Given the description of an element on the screen output the (x, y) to click on. 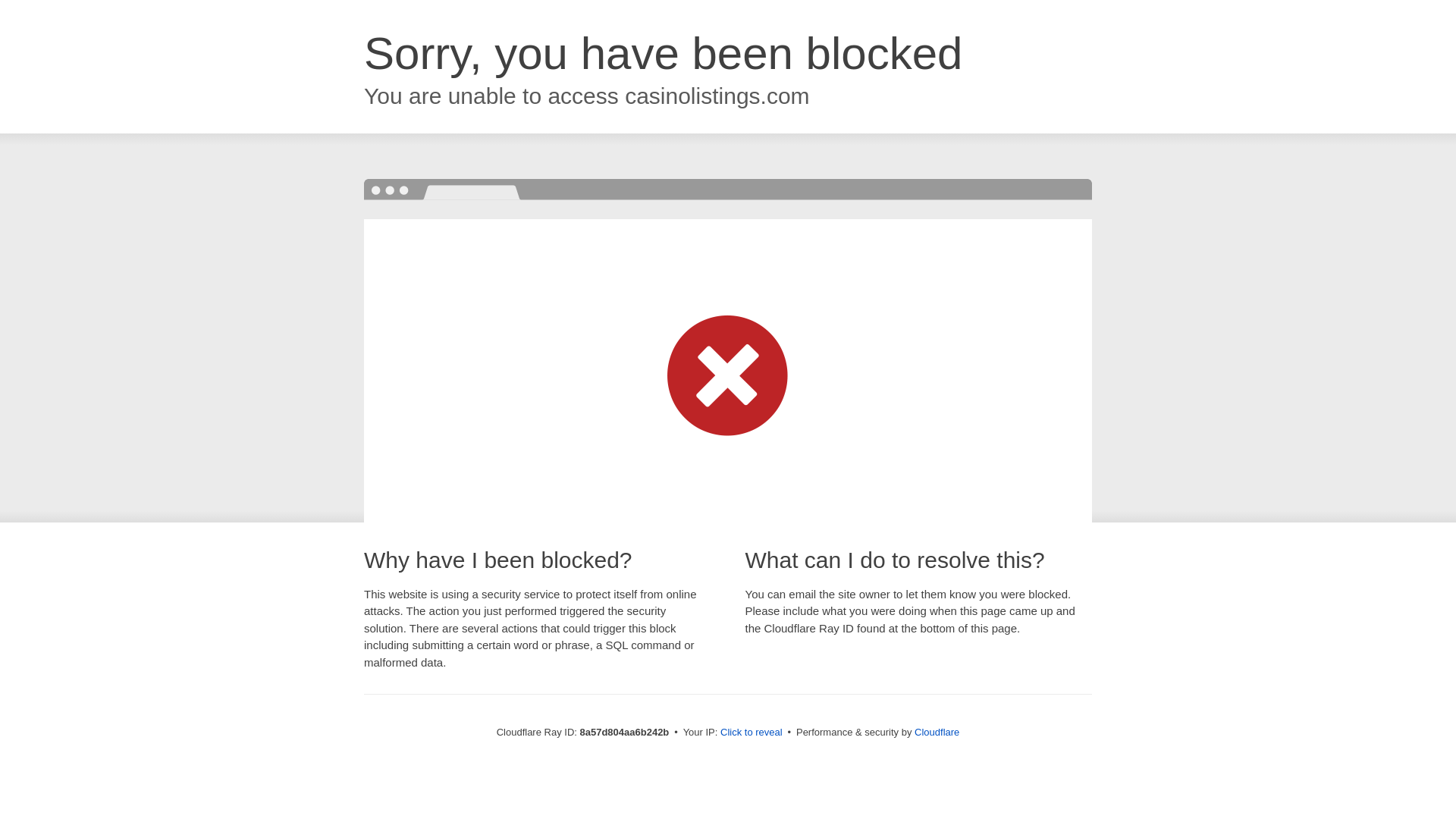
Cloudflare (936, 731)
Click to reveal (751, 732)
